Given the description of an element on the screen output the (x, y) to click on. 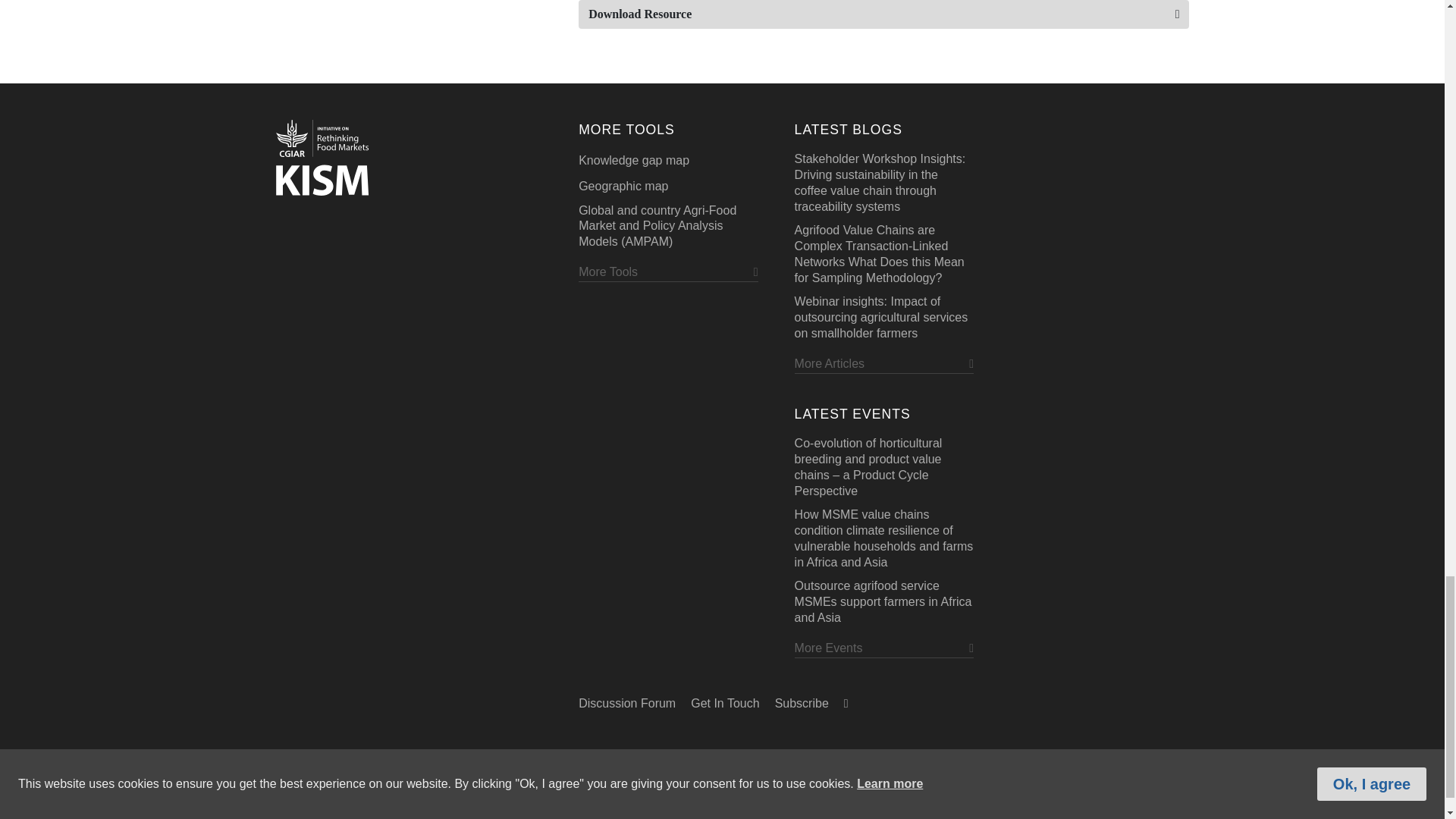
Food Security Portal (321, 155)
